Given the description of an element on the screen output the (x, y) to click on. 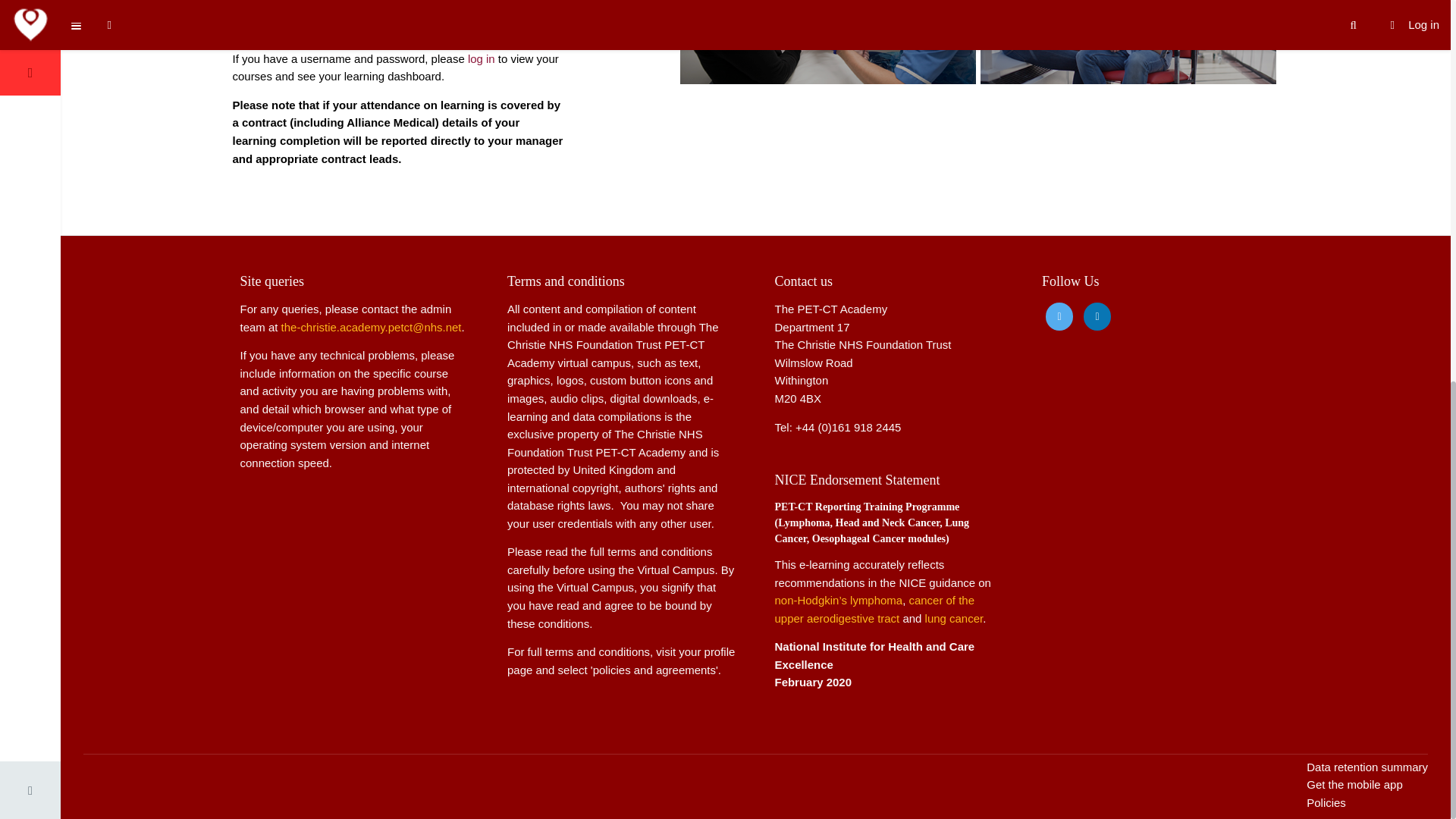
Policies (1325, 802)
Get the mobile app (1354, 784)
cancer of the upper aerodigestive tract (874, 608)
lung cancer (954, 617)
Data retention summary (1367, 766)
log in (481, 58)
